Given the description of an element on the screen output the (x, y) to click on. 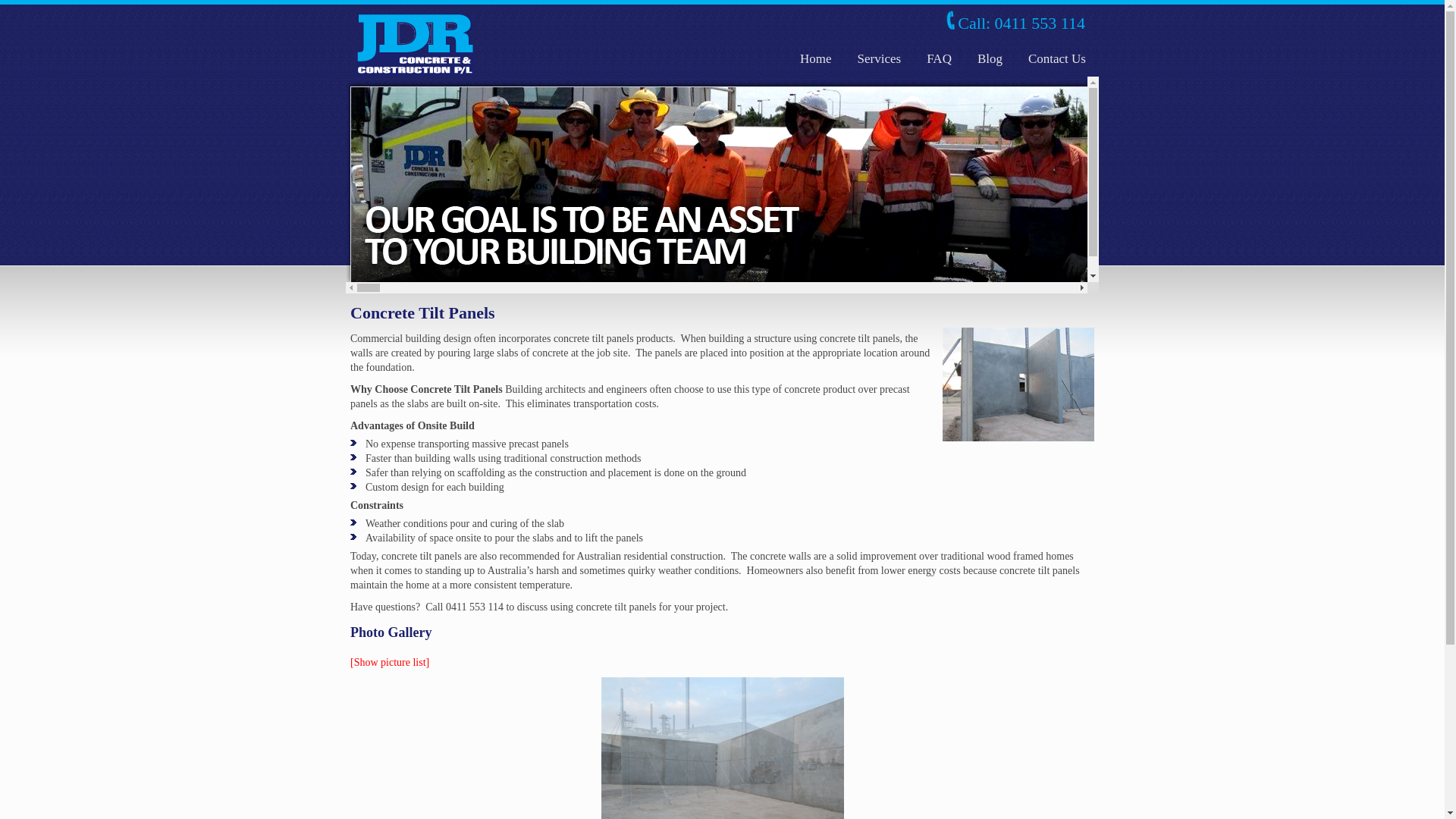
[Show picture list] Element type: text (389, 662)
Blog Element type: text (989, 58)
FAQ Element type: text (939, 58)
Contact Us Element type: text (1056, 58)
Call: 0411 553 114 Element type: text (1021, 22)
Home Element type: text (815, 58)
Services Element type: text (879, 58)
